Given the description of an element on the screen output the (x, y) to click on. 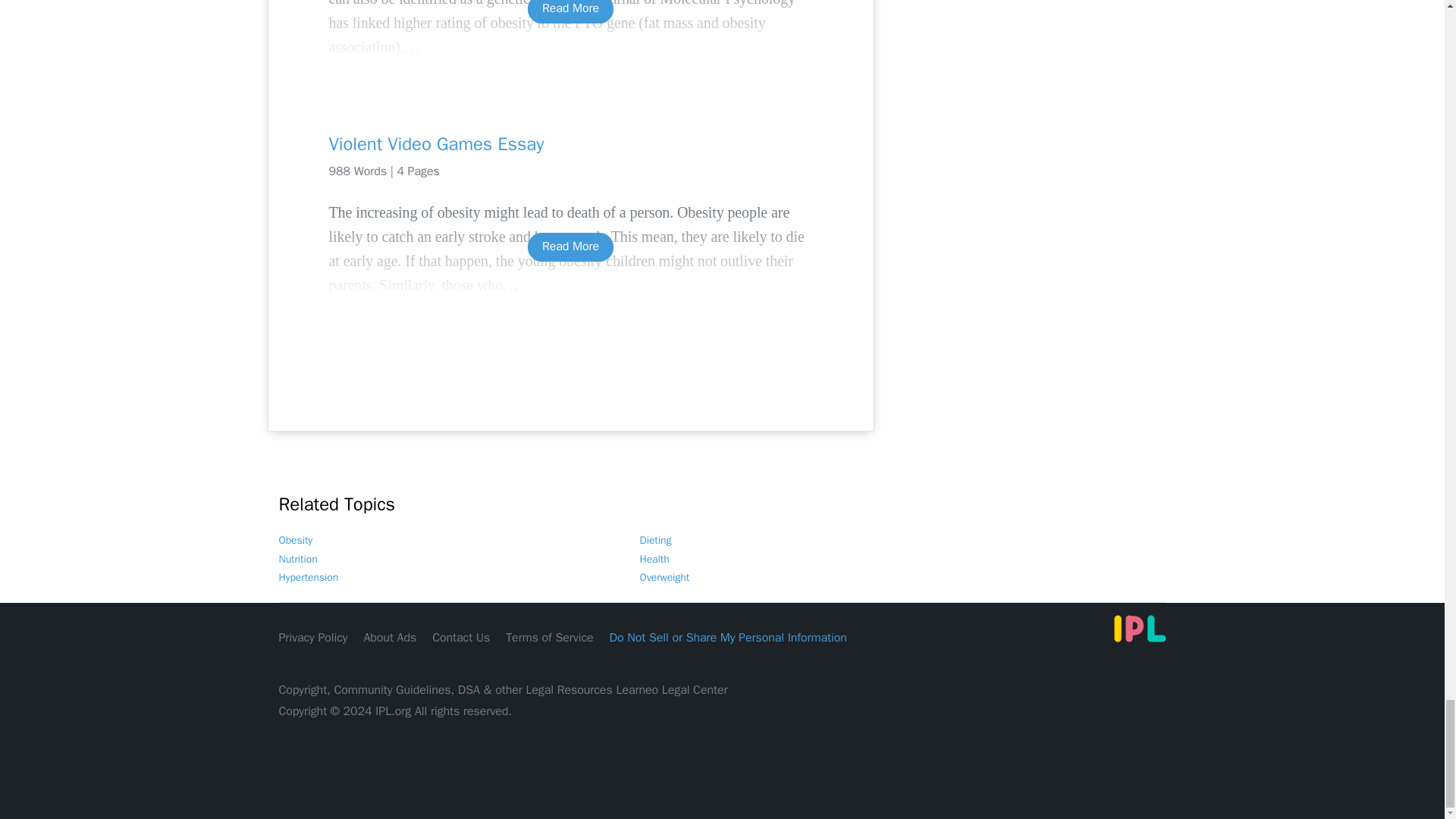
Health (654, 558)
Obesity (296, 540)
Terms of Service (548, 637)
Overweight (665, 576)
Nutrition (298, 558)
Privacy Policy (313, 637)
Contact Us (460, 637)
Hypertension (309, 576)
About Ads (389, 637)
Dieting (655, 540)
